Given the description of an element on the screen output the (x, y) to click on. 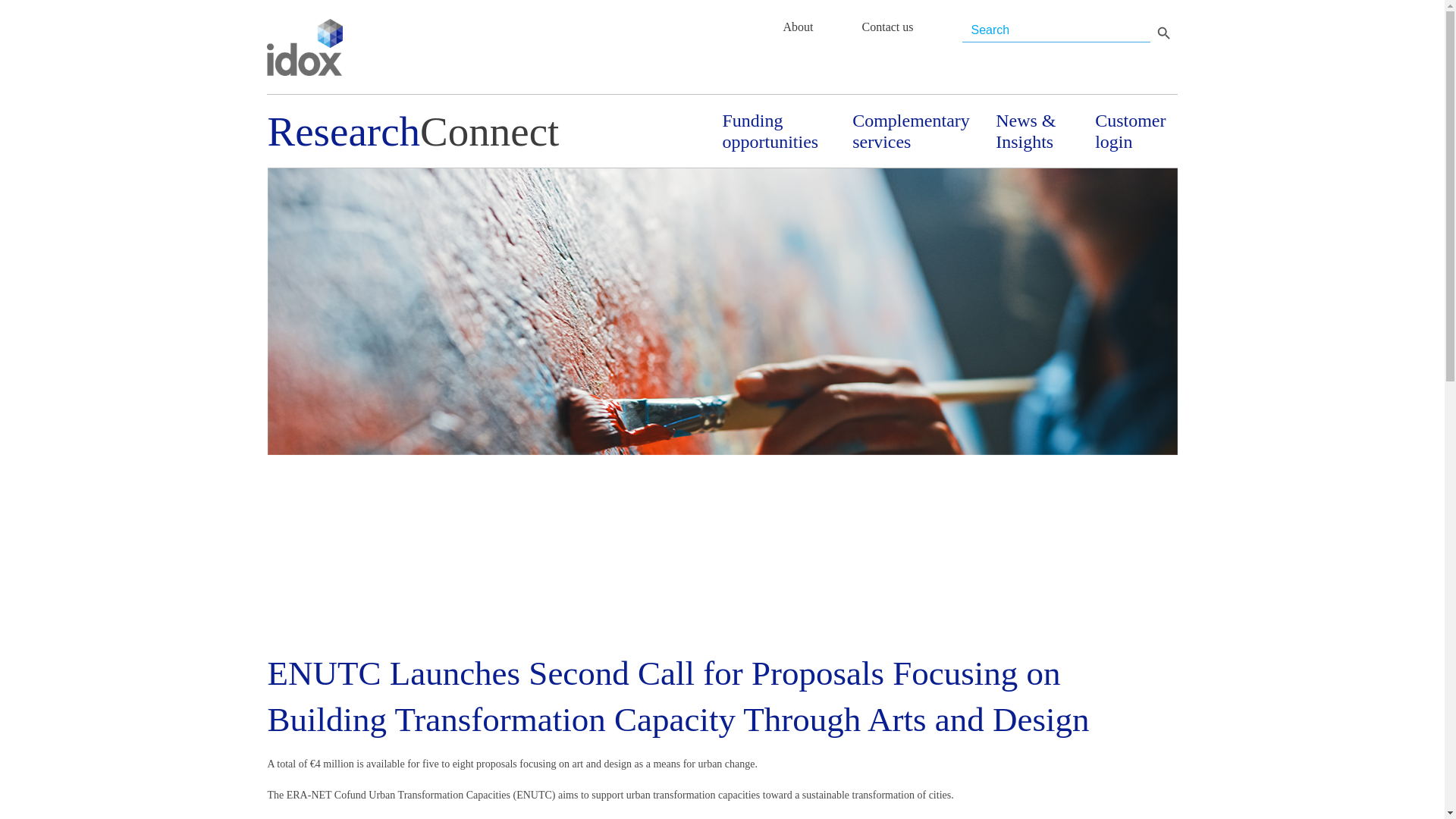
Customer login (1135, 130)
Search Button (1163, 31)
Contact us (887, 26)
Funding opportunities (775, 130)
NewLogoRetina (304, 47)
About (798, 26)
Complementary services (911, 130)
